Given the description of an element on the screen output the (x, y) to click on. 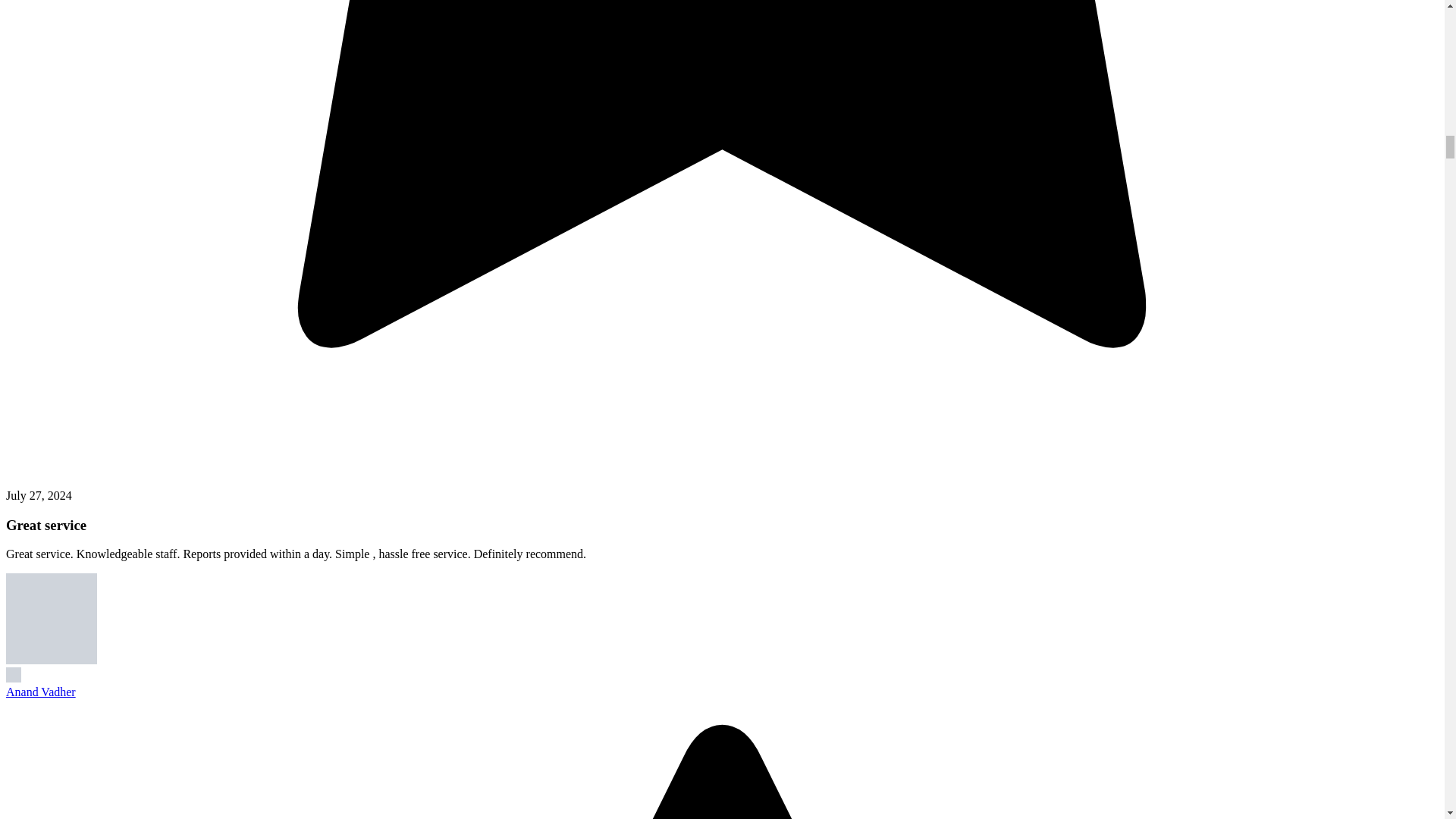
Anand Vadher (40, 691)
